Given the description of an element on the screen output the (x, y) to click on. 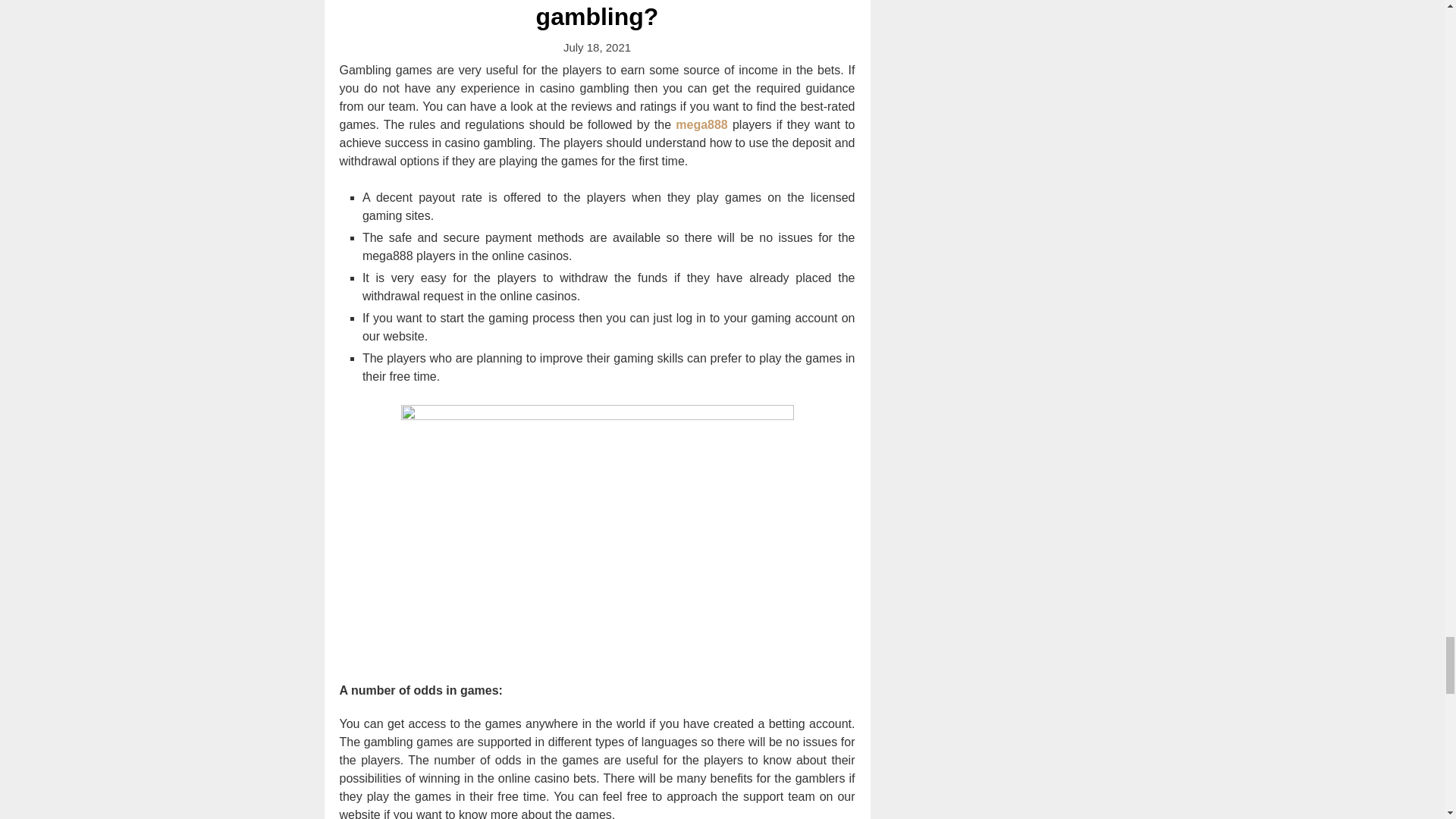
mega888 (701, 124)
Want to achieve success in casino gambling? (596, 15)
Want to achieve success in casino gambling? (596, 15)
